Given the description of an element on the screen output the (x, y) to click on. 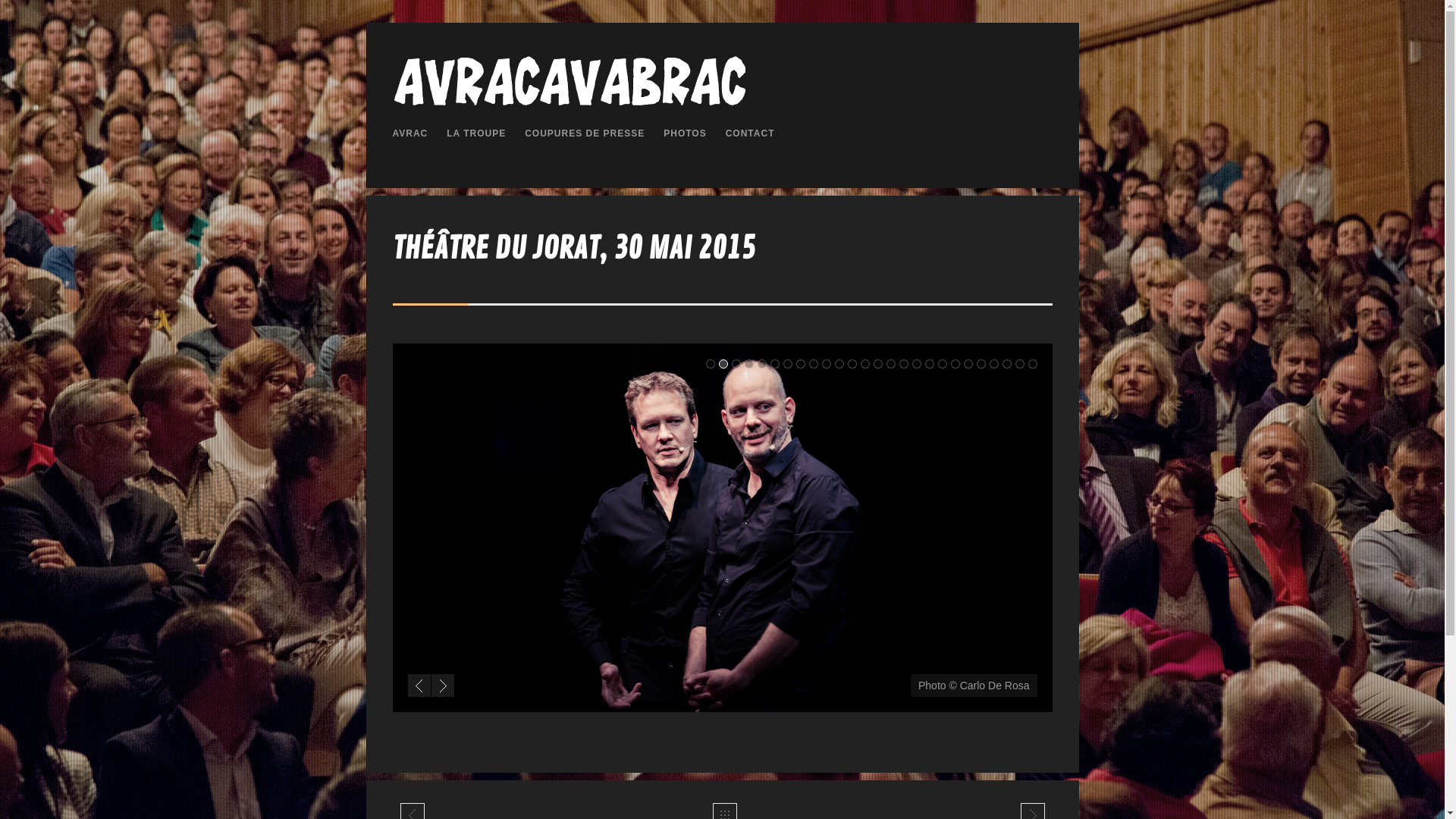
21 Element type: text (967, 363)
9 Element type: text (812, 363)
12 Element type: text (851, 363)
2 Element type: text (723, 363)
10 Element type: text (826, 363)
19 Element type: text (941, 363)
CONTACT Element type: text (750, 134)
25 Element type: text (1018, 363)
3 Element type: text (735, 363)
26 Element type: text (1032, 363)
24 Element type: text (1006, 363)
PHOTOS Element type: text (684, 134)
17 Element type: text (915, 363)
6 Element type: text (774, 363)
AVRAC Element type: text (410, 134)
23 Element type: text (992, 363)
11 Element type: text (838, 363)
COUPURES DE PRESSE Element type: text (584, 134)
7 Element type: text (786, 363)
20 Element type: text (955, 363)
14 Element type: text (877, 363)
5 Element type: text (760, 363)
AvrAcAvAbrAc Element type: hover (568, 104)
LA TROUPE Element type: text (475, 134)
4 Element type: text (748, 363)
Previous Element type: text (418, 685)
18 Element type: text (929, 363)
16 Element type: text (903, 363)
Next Element type: text (441, 685)
13 Element type: text (864, 363)
8 Element type: text (800, 363)
22 Element type: text (980, 363)
15 Element type: text (889, 363)
1 Element type: text (709, 363)
